Given the description of an element on the screen output the (x, y) to click on. 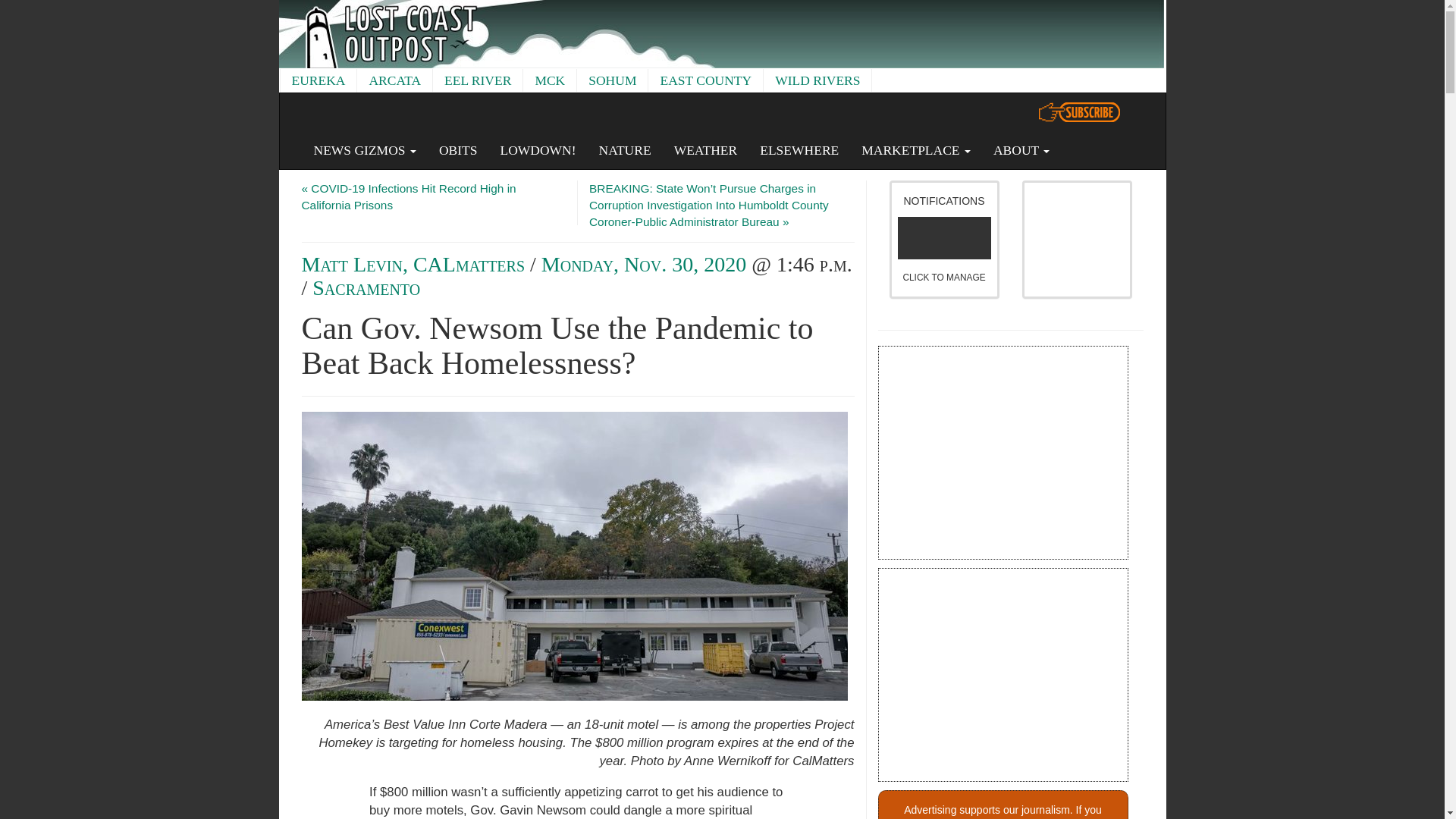
OBITS (458, 149)
NATURE (625, 149)
LOWDOWN! (536, 149)
ABOUT (1021, 149)
SOHUM (611, 79)
EAST COUNTY (704, 79)
NEWS GIZMOS (363, 149)
WEATHER (705, 149)
EUREKA (318, 79)
EEL RIVER (477, 79)
WILD RIVERS (816, 79)
ARCATA (394, 79)
MCK (549, 79)
MARKETPLACE (915, 149)
